Given the description of an element on the screen output the (x, y) to click on. 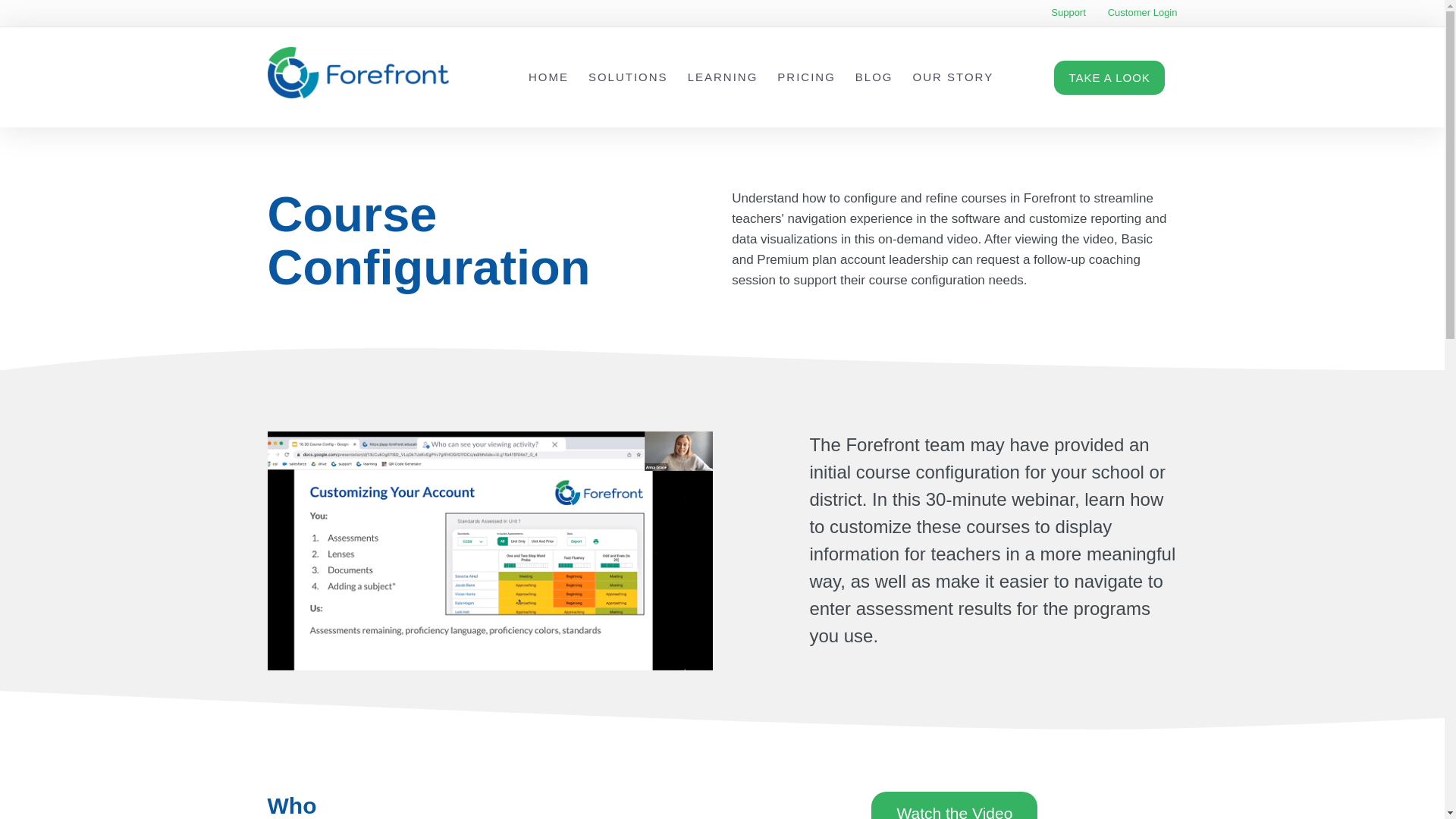
SOLUTIONS (628, 77)
PRICING (806, 77)
BLOG (874, 77)
Customer Login (1142, 12)
Watch the Video (953, 805)
Support (1068, 12)
OUR STORY (953, 77)
LEARNING (722, 77)
TAKE A LOOK (1108, 77)
HOME (548, 77)
